Given the description of an element on the screen output the (x, y) to click on. 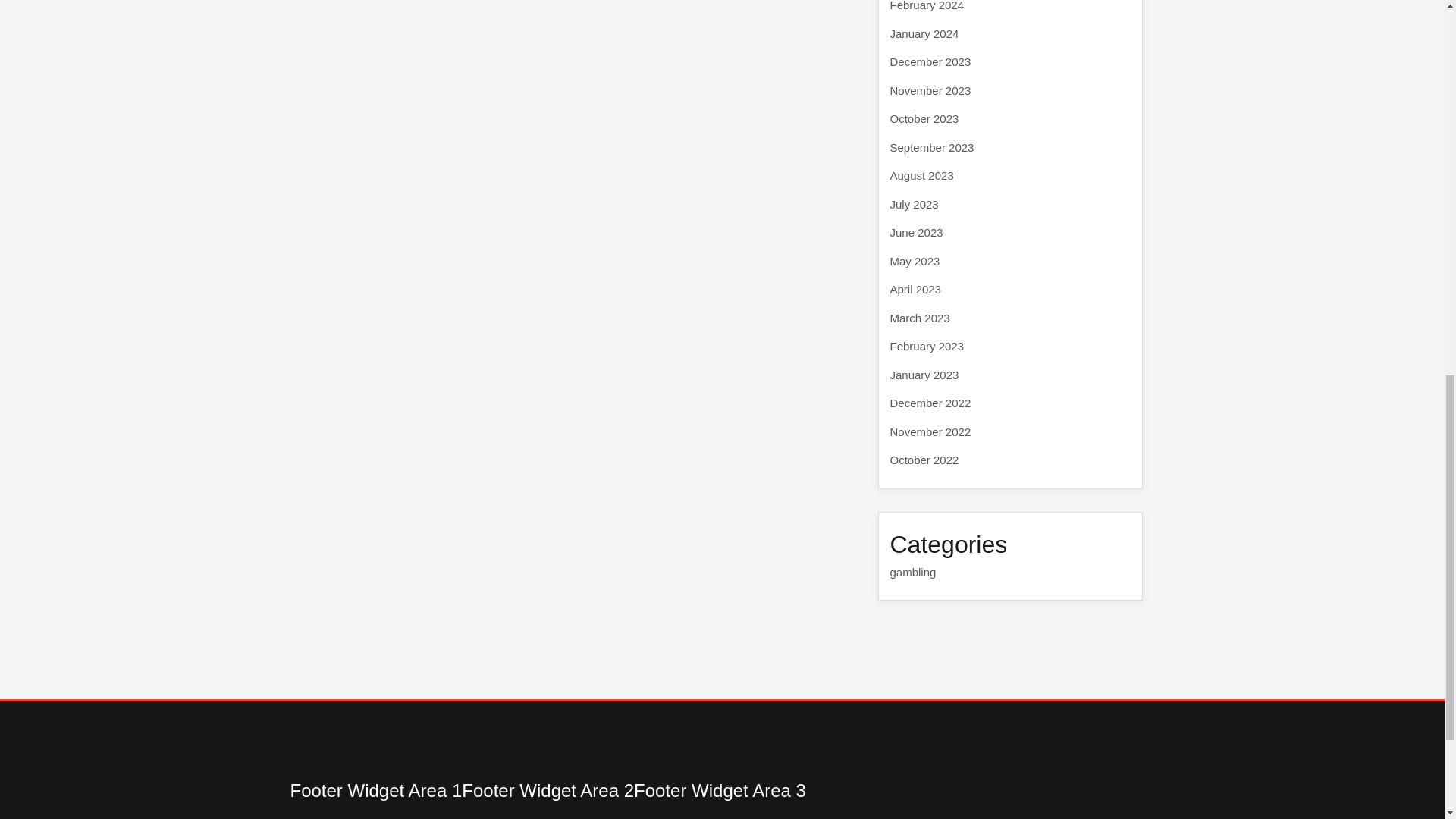
February 2023 (926, 345)
November 2022 (930, 431)
March 2023 (919, 317)
July 2023 (914, 203)
September 2023 (931, 146)
January 2024 (924, 33)
February 2024 (926, 5)
August 2023 (921, 174)
November 2023 (930, 89)
October 2022 (924, 459)
April 2023 (915, 288)
December 2022 (930, 402)
June 2023 (916, 232)
October 2023 (924, 118)
May 2023 (914, 260)
